Given the description of an element on the screen output the (x, y) to click on. 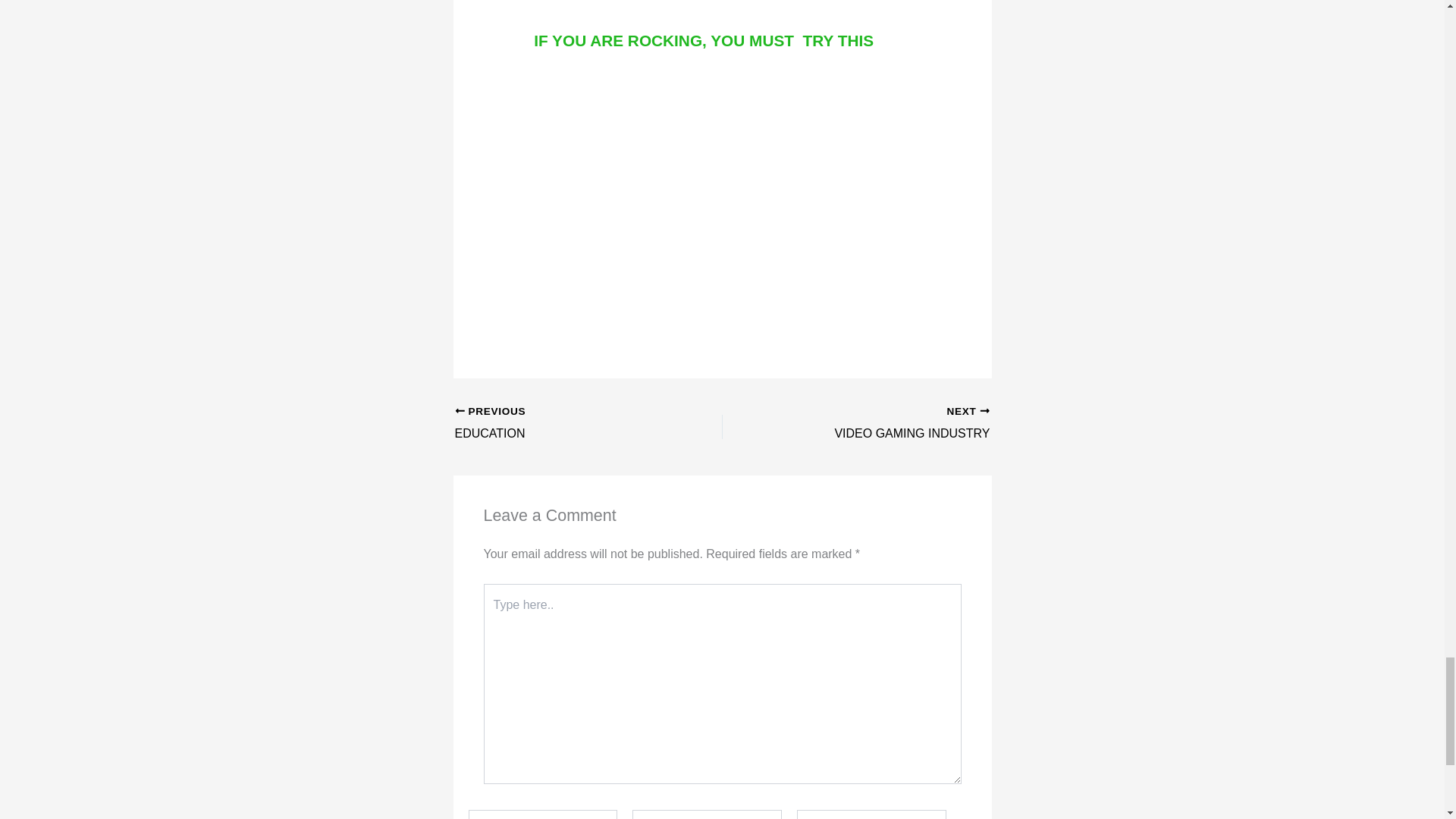
VIDEO GAMING INDUSTRY (561, 423)
EDUCATION (882, 423)
YouTube video player (561, 423)
